Given the description of an element on the screen output the (x, y) to click on. 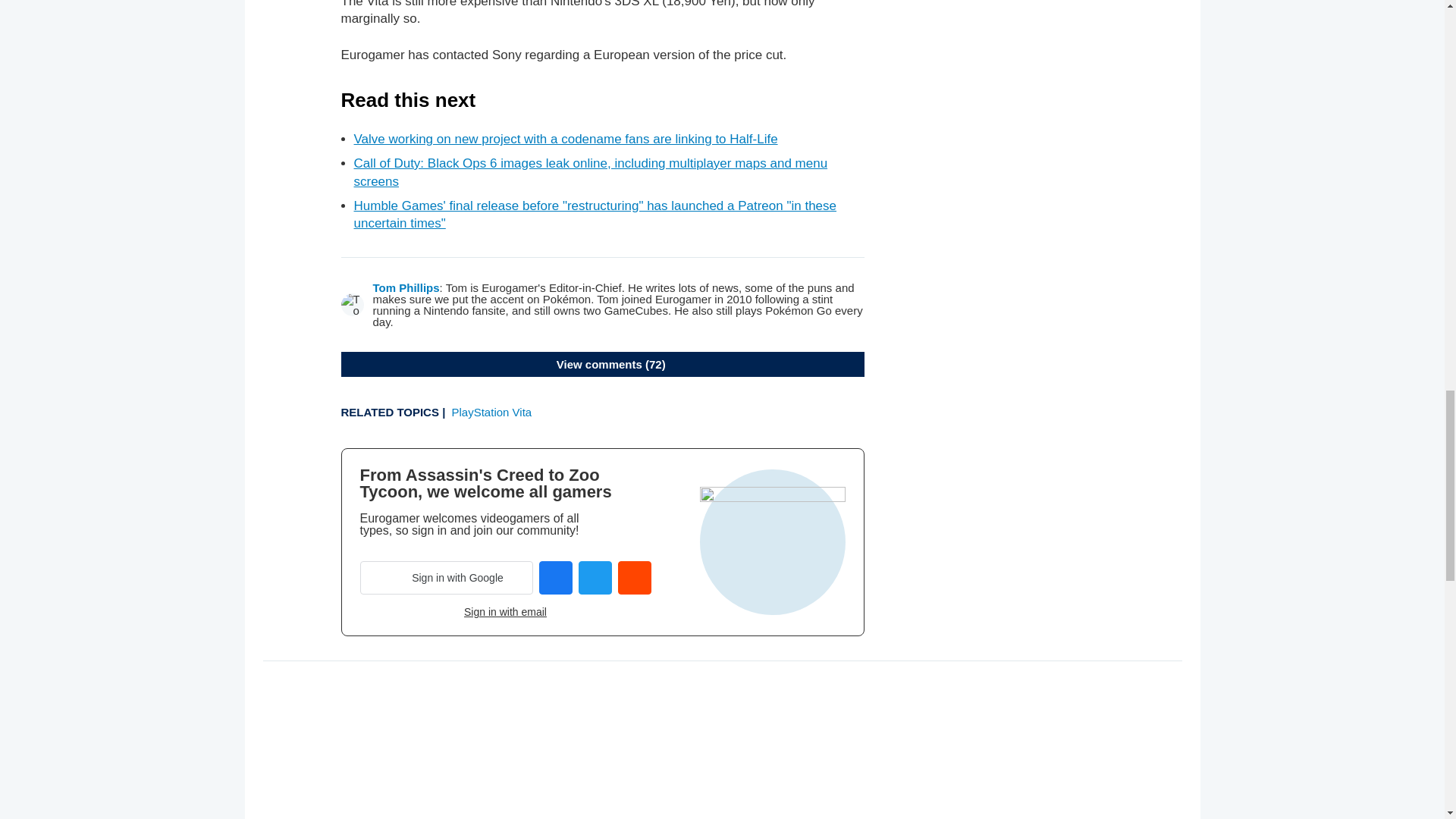
Sign in with Google (445, 577)
Sign in with Google (445, 577)
PlayStation Vita (491, 411)
Sign in with email (504, 611)
Tom Phillips (405, 287)
